Given the description of an element on the screen output the (x, y) to click on. 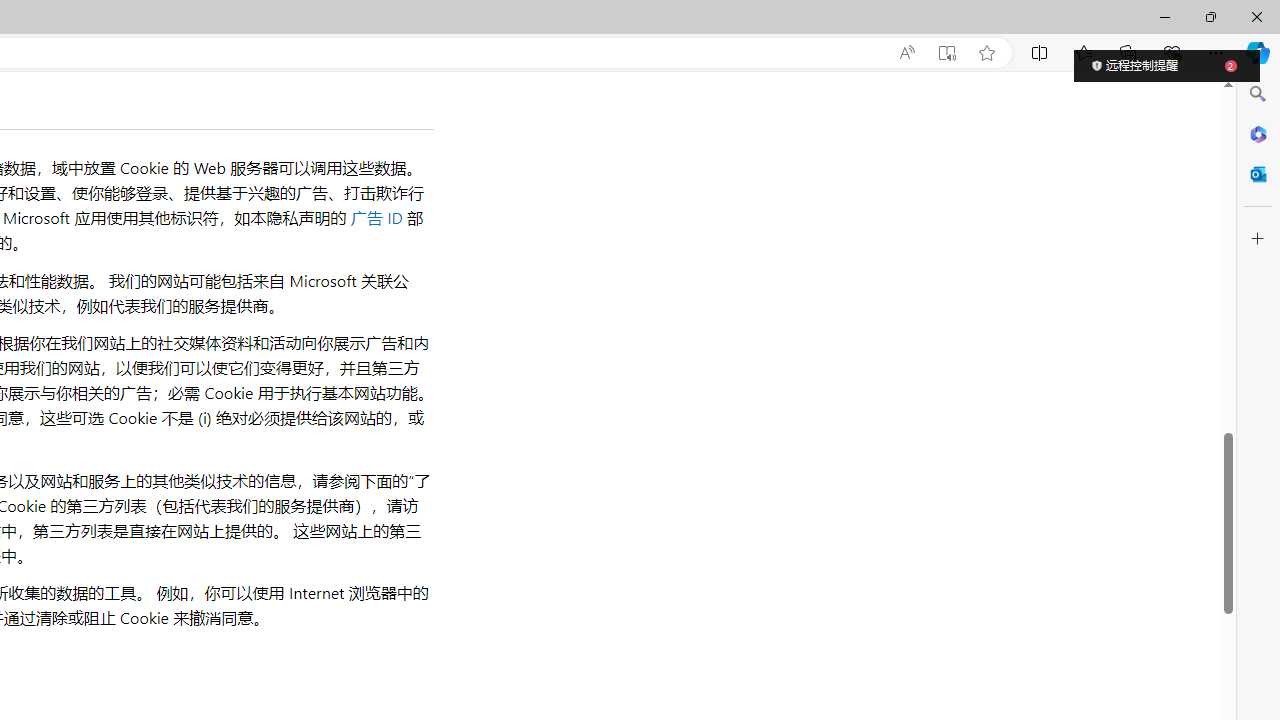
Enter Immersive Reader (F9) (946, 53)
